Given the description of an element on the screen output the (x, y) to click on. 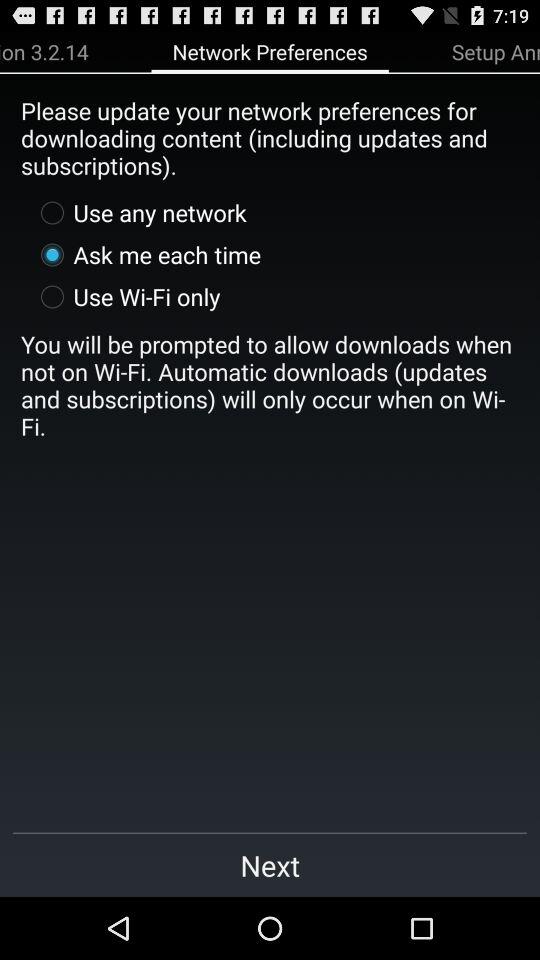
scroll until the use any network item (138, 212)
